Given the description of an element on the screen output the (x, y) to click on. 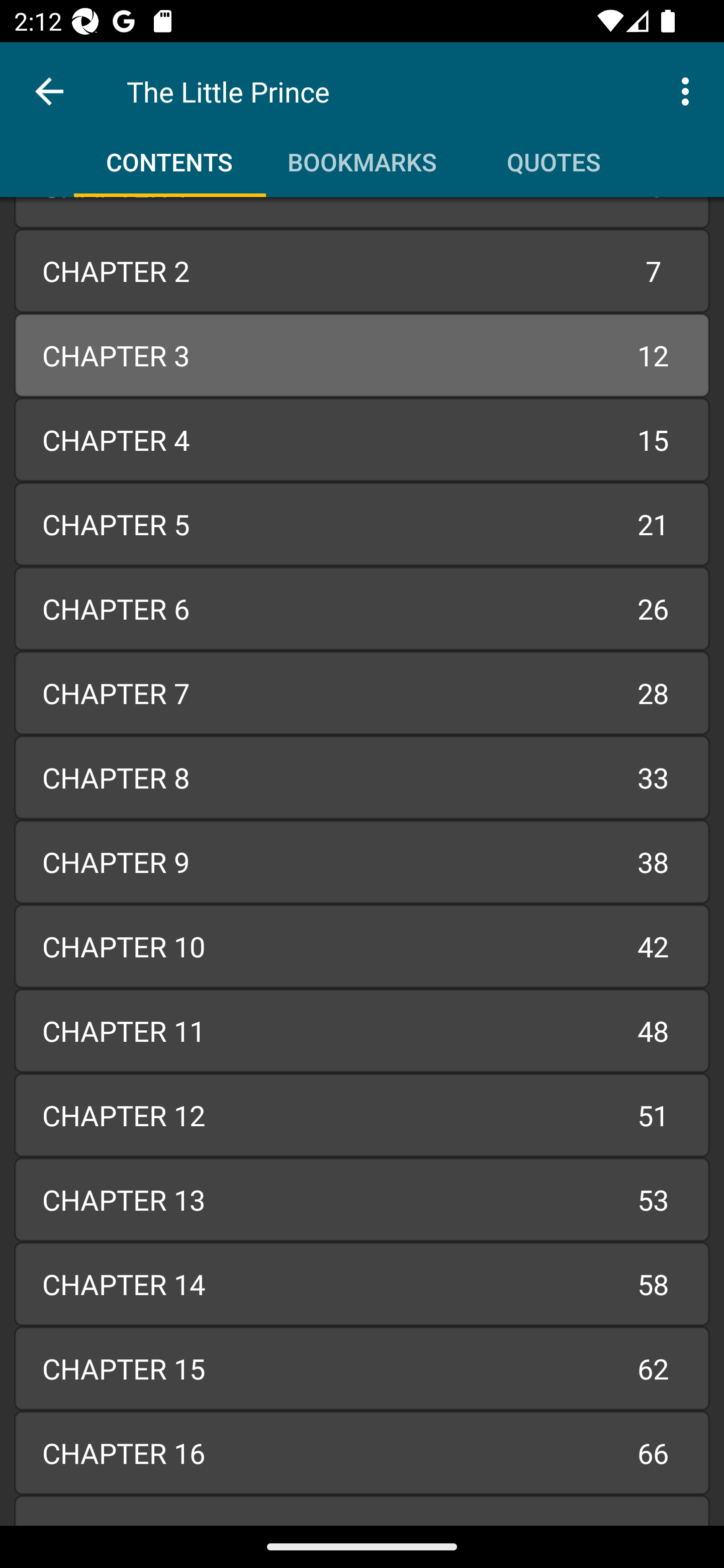
Back (49, 91)
More options (688, 90)
Bookmarks BOOKMARKS (361, 154)
Quotes QUOTES (554, 154)
CHAPTER 2 7 (361, 270)
CHAPTER 3 12 (361, 355)
CHAPTER 4 15 (361, 439)
CHAPTER 5 21 (361, 523)
CHAPTER 6 26 (361, 608)
CHAPTER 7 28 (361, 692)
CHAPTER 8 33 (361, 777)
CHAPTER 9 38 (361, 862)
CHAPTER 10 42 (361, 945)
CHAPTER 11 48 (361, 1029)
CHAPTER 12 51 (361, 1114)
CHAPTER 13 53 (361, 1199)
CHAPTER 14 58 (361, 1283)
CHAPTER 15 62 (361, 1368)
CHAPTER 16 66 (361, 1453)
